Given the description of an element on the screen output the (x, y) to click on. 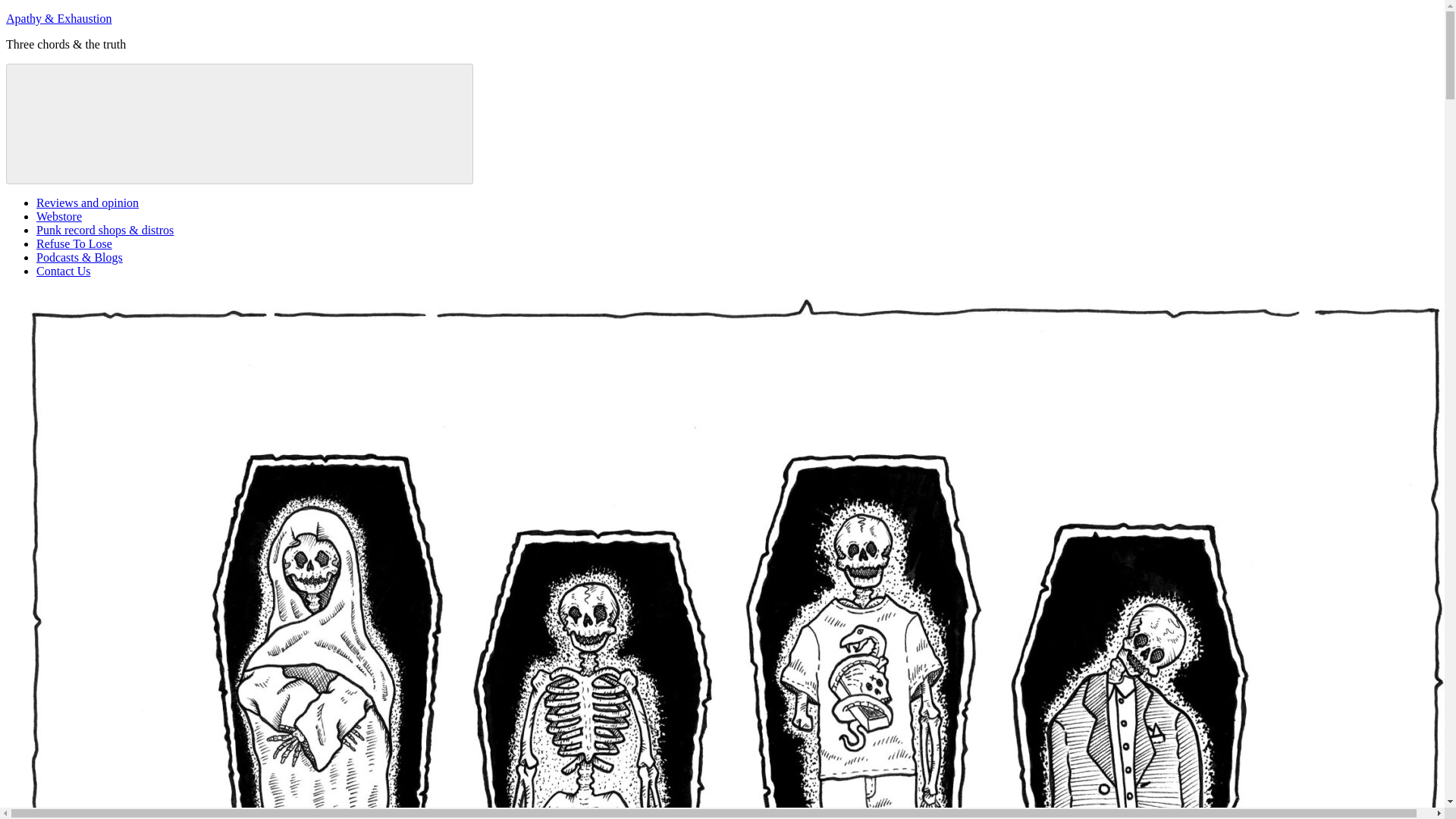
Webstore (58, 215)
Refuse To Lose (74, 243)
Menu (239, 123)
Webstore (58, 215)
Contact Us (63, 270)
Reviews and opinion (87, 202)
